Given the description of an element on the screen output the (x, y) to click on. 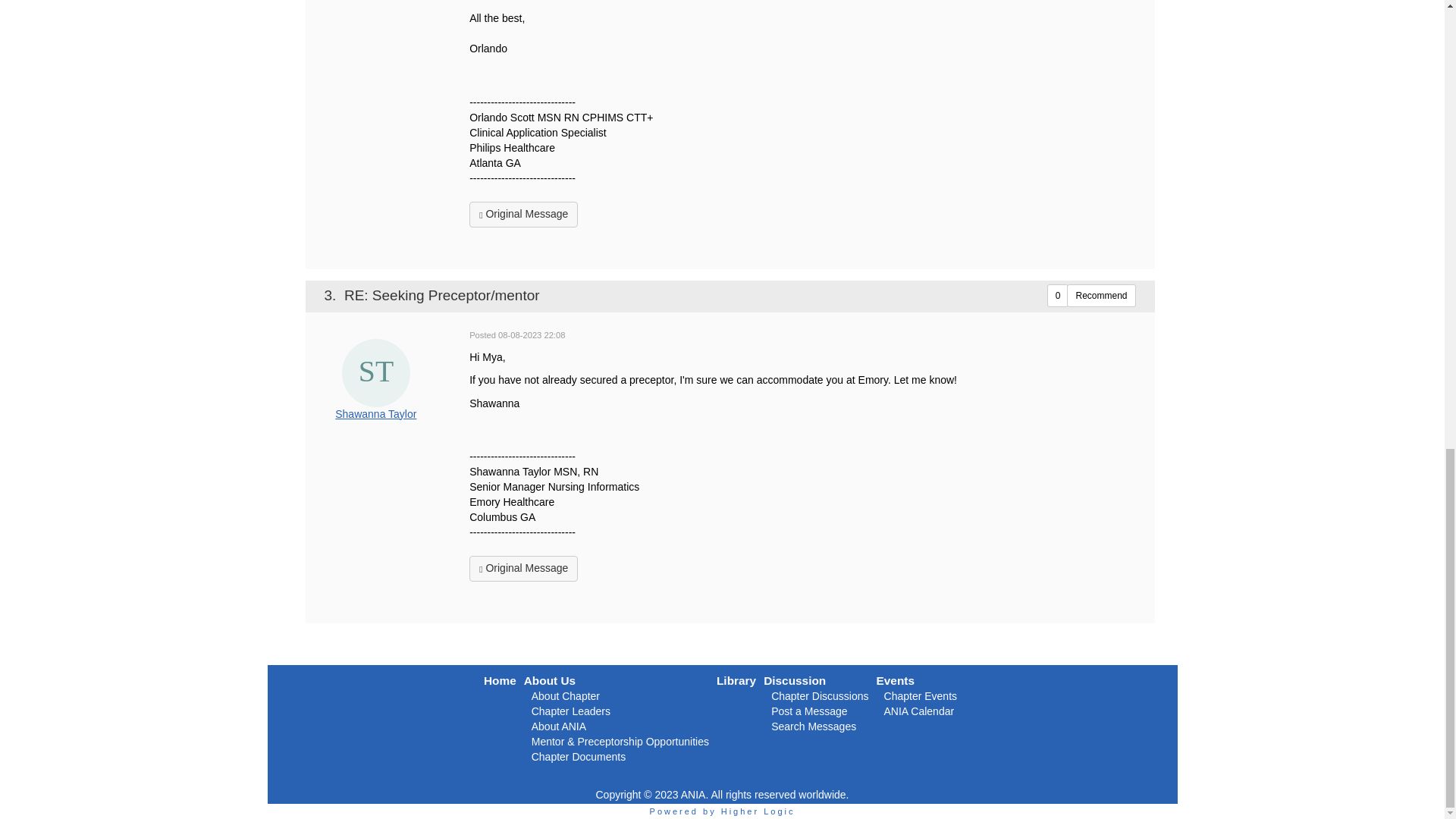
Shawanna Taylor (376, 373)
Nbr of recommenders (1057, 295)
Recommend this item. (1101, 295)
